Given the description of an element on the screen output the (x, y) to click on. 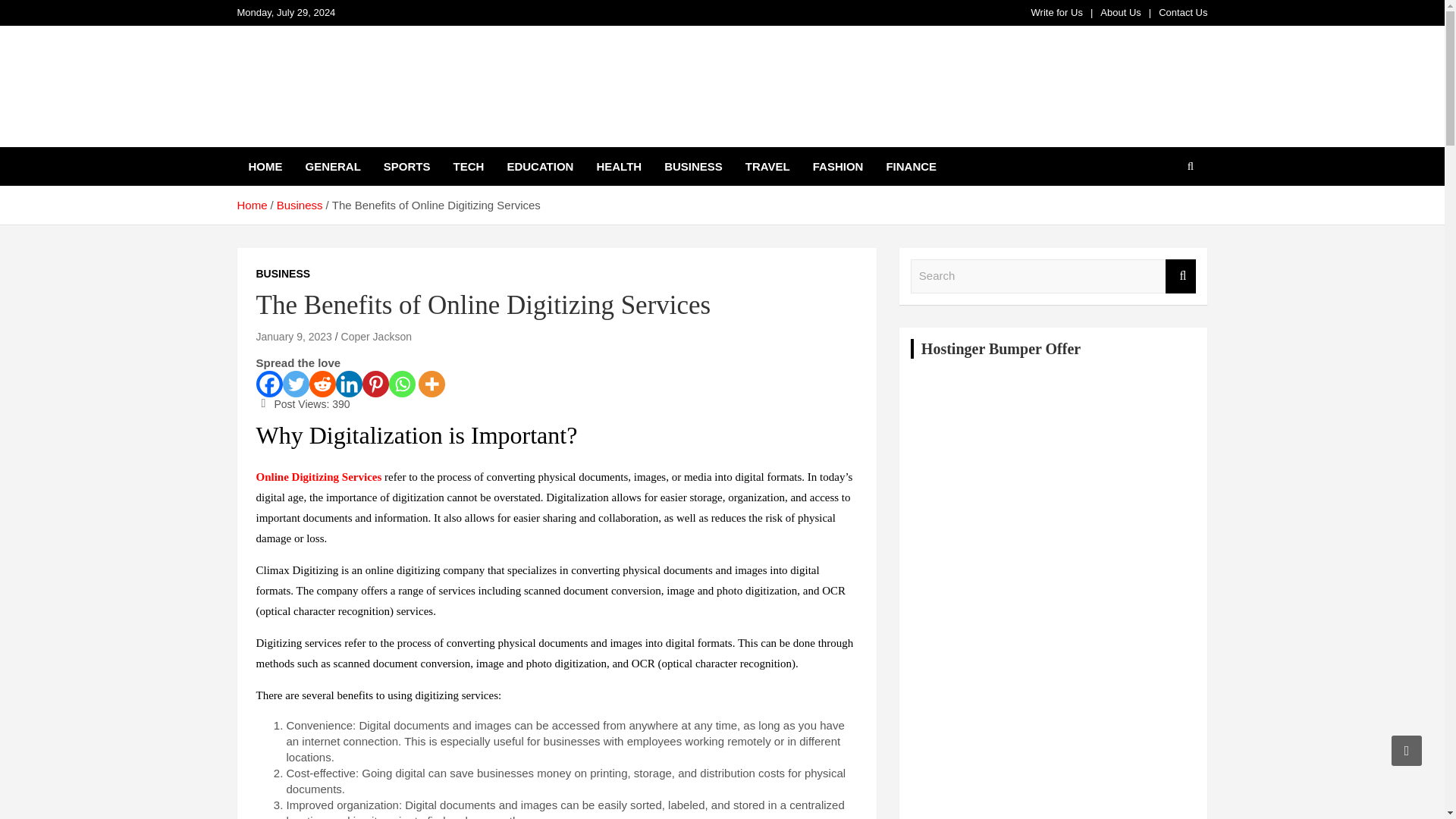
HOME (264, 166)
Facebook (269, 384)
Write for Us (1056, 12)
Contact Us (1182, 12)
Fat Degree (306, 143)
Reddit (322, 384)
About Us (1120, 12)
Pinterest (375, 384)
Business (299, 205)
GENERAL (333, 166)
More (431, 384)
The Benefits of Online Digitizing Services (293, 336)
TECH (469, 166)
Home (250, 205)
FINANCE (911, 166)
